Given the description of an element on the screen output the (x, y) to click on. 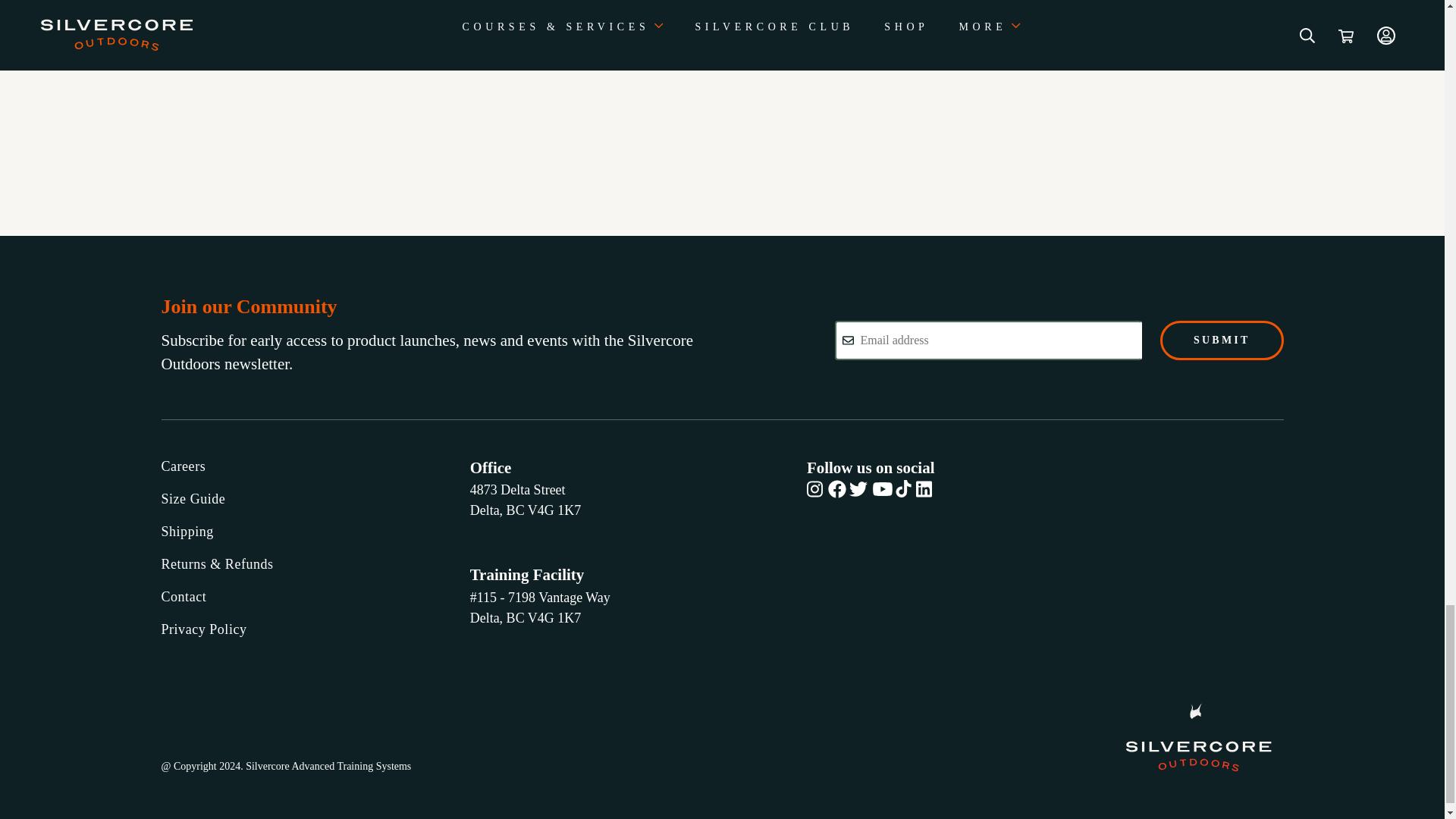
Size Guide (216, 498)
Contact (216, 597)
Privacy Policy (216, 629)
SUBMIT (1221, 340)
Shipping (216, 531)
Careers (216, 466)
